Given the description of an element on the screen output the (x, y) to click on. 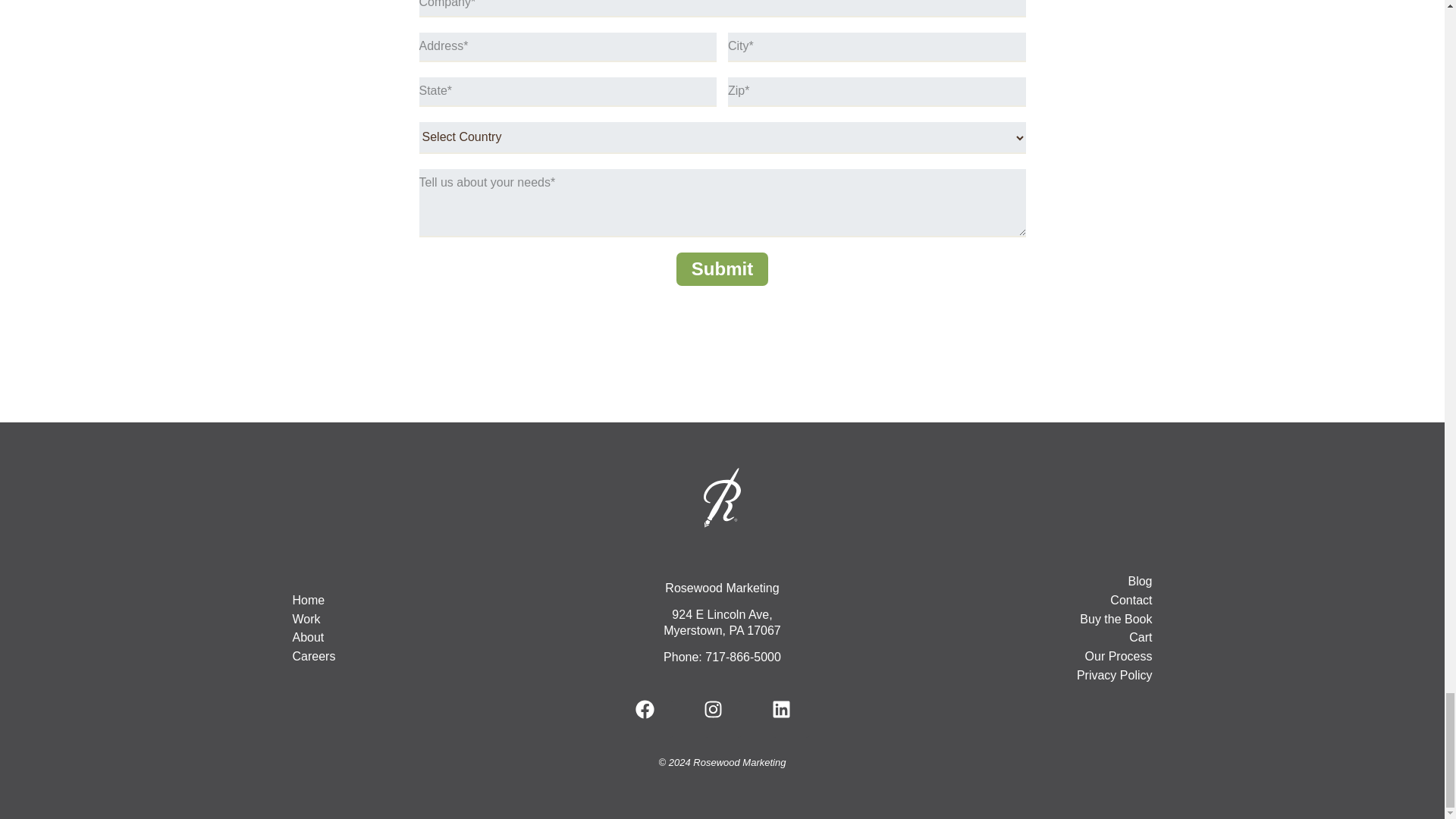
Careers (376, 656)
Cart (1067, 638)
Contact (1067, 600)
Privacy Policy (1067, 675)
Our Process (1067, 656)
Home (376, 600)
About (376, 638)
Blog (1067, 581)
717-866-5000 (742, 656)
Buy the Book (1067, 619)
